Given the description of an element on the screen output the (x, y) to click on. 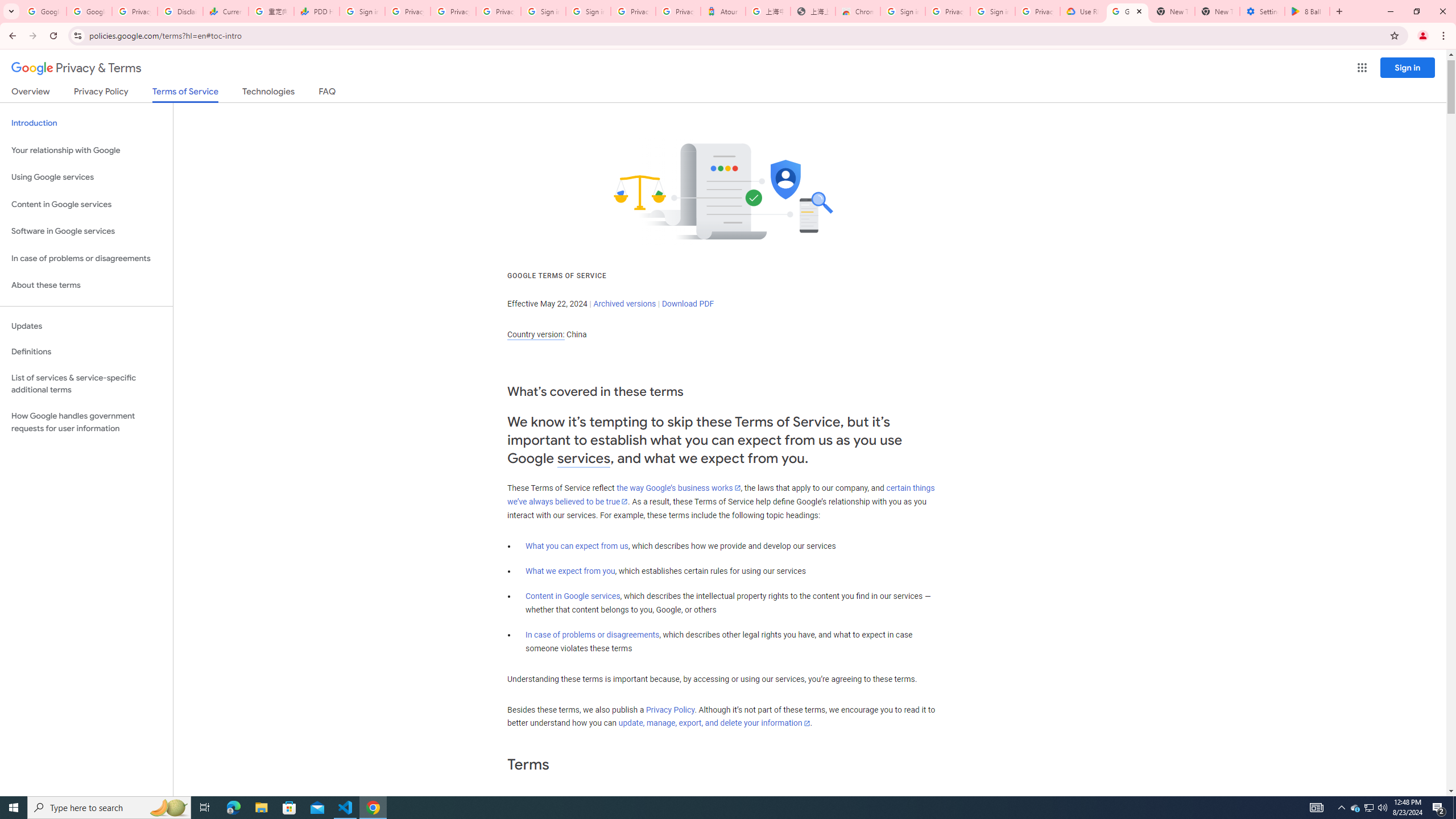
List of services & service-specific additional terms (86, 383)
Country version: (535, 334)
Atour Hotel - Google hotels (723, 11)
Content in Google services (572, 596)
Privacy Checkup (497, 11)
Currencies - Google Finance (225, 11)
